Given the description of an element on the screen output the (x, y) to click on. 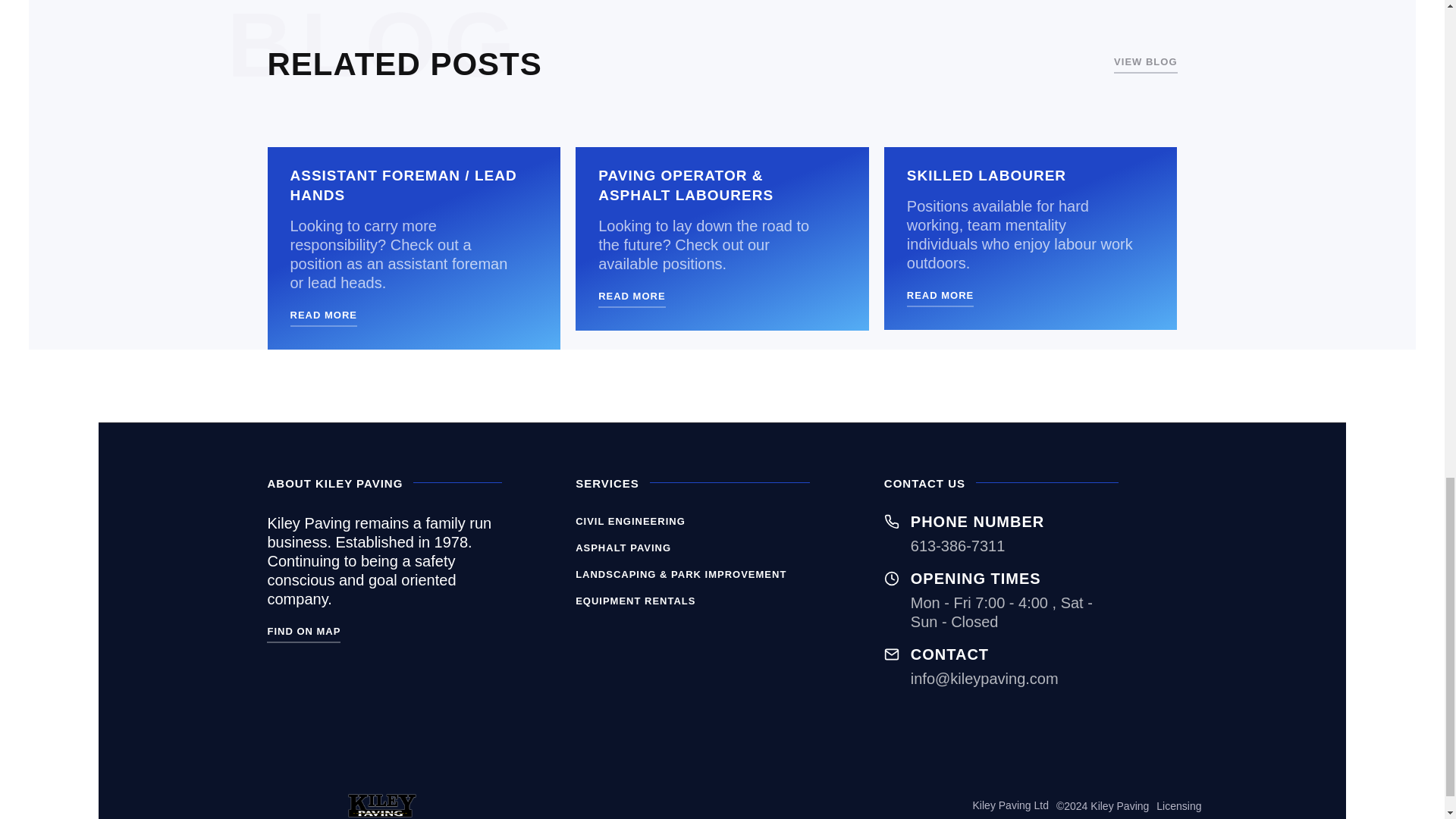
ASPHALT PAVING (623, 549)
CIVIL ENGINEERING (630, 523)
EQUIPMENT RENTALS (635, 602)
FIND ON MAP (303, 633)
VIEW BLOG (1144, 63)
Licensing (1178, 806)
